Given the description of an element on the screen output the (x, y) to click on. 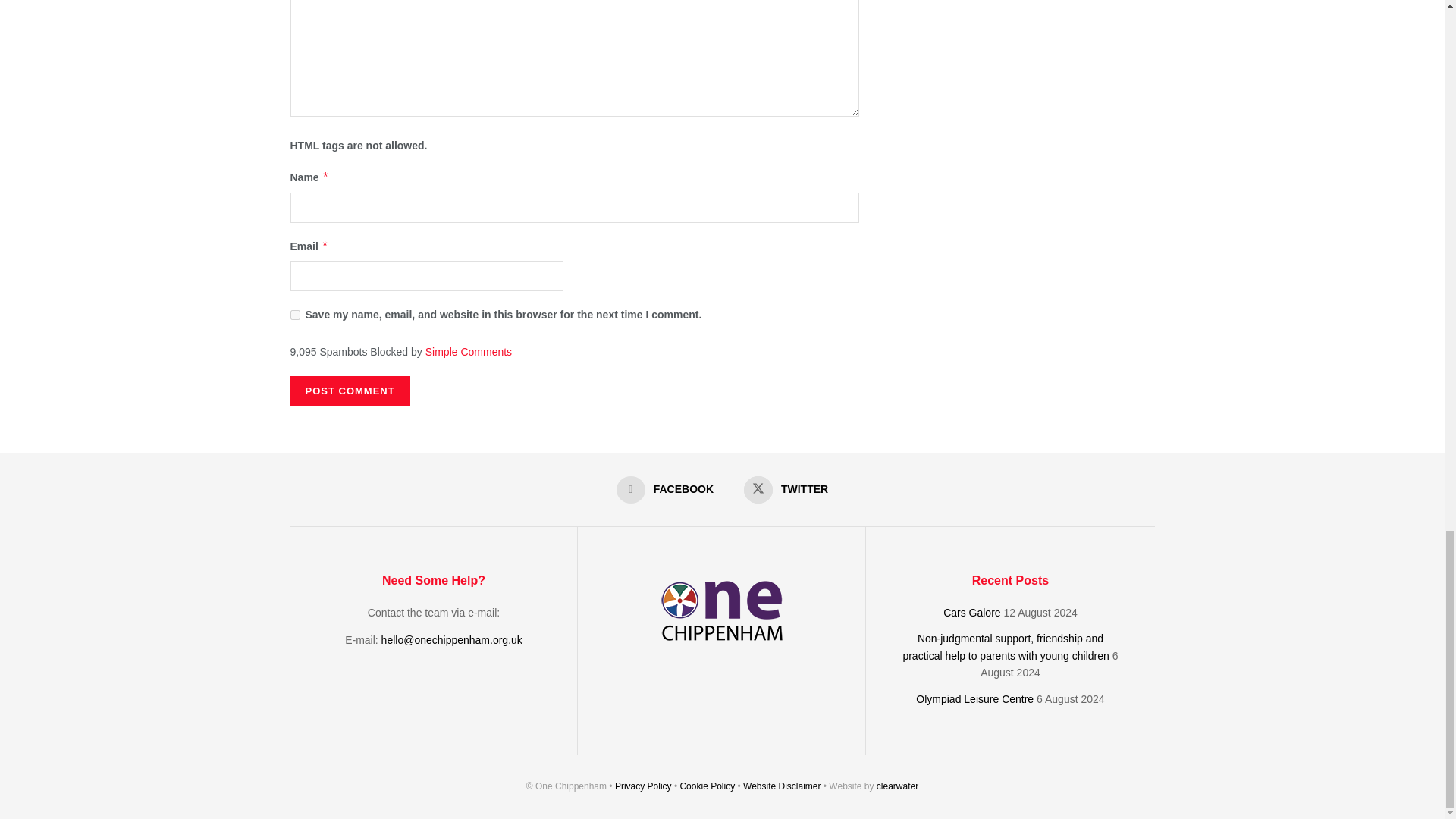
Simple Comments (468, 351)
Post Comment (349, 390)
yes (294, 315)
